Given the description of an element on the screen output the (x, y) to click on. 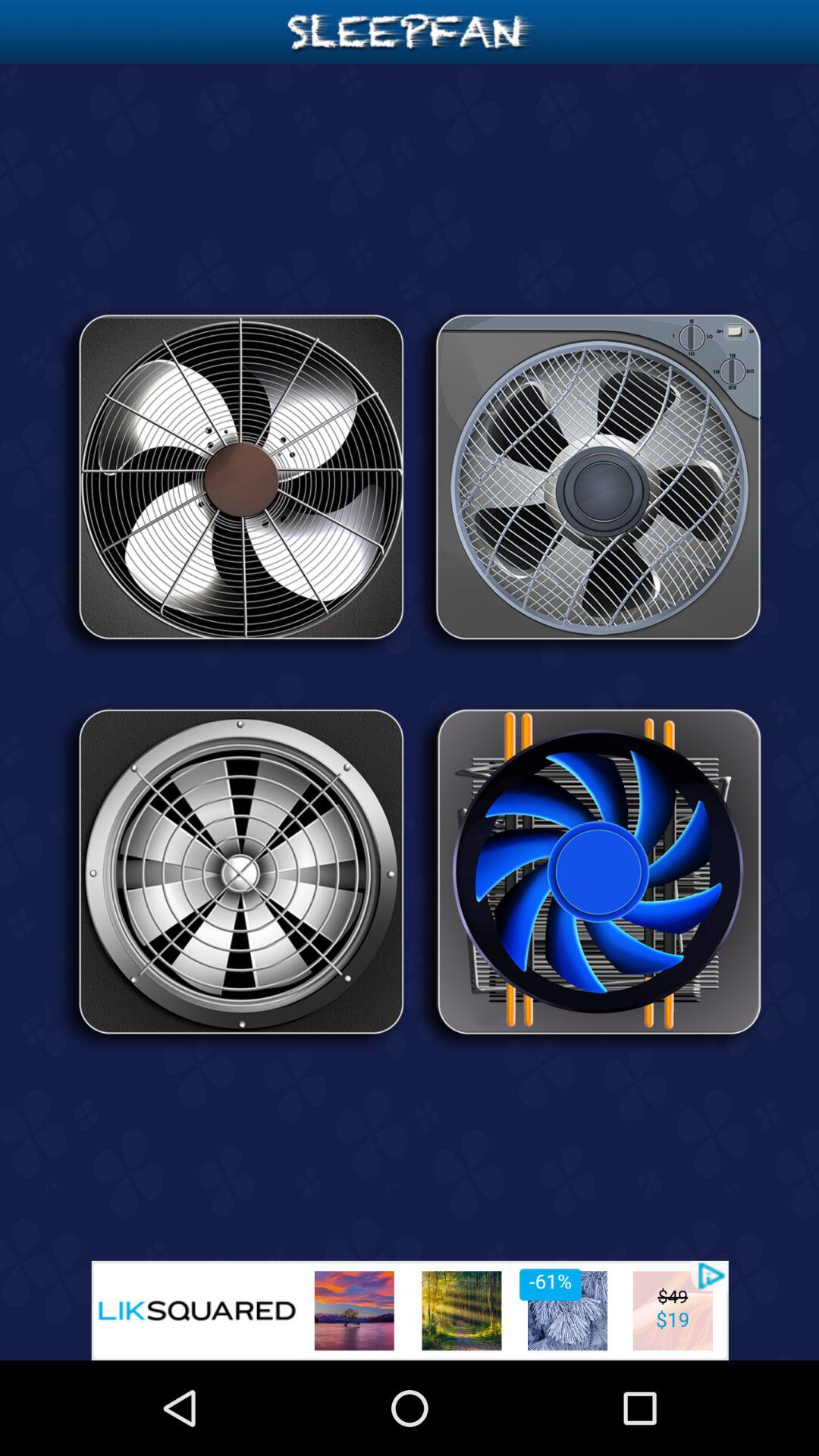
advertisements (409, 1310)
